Given the description of an element on the screen output the (x, y) to click on. 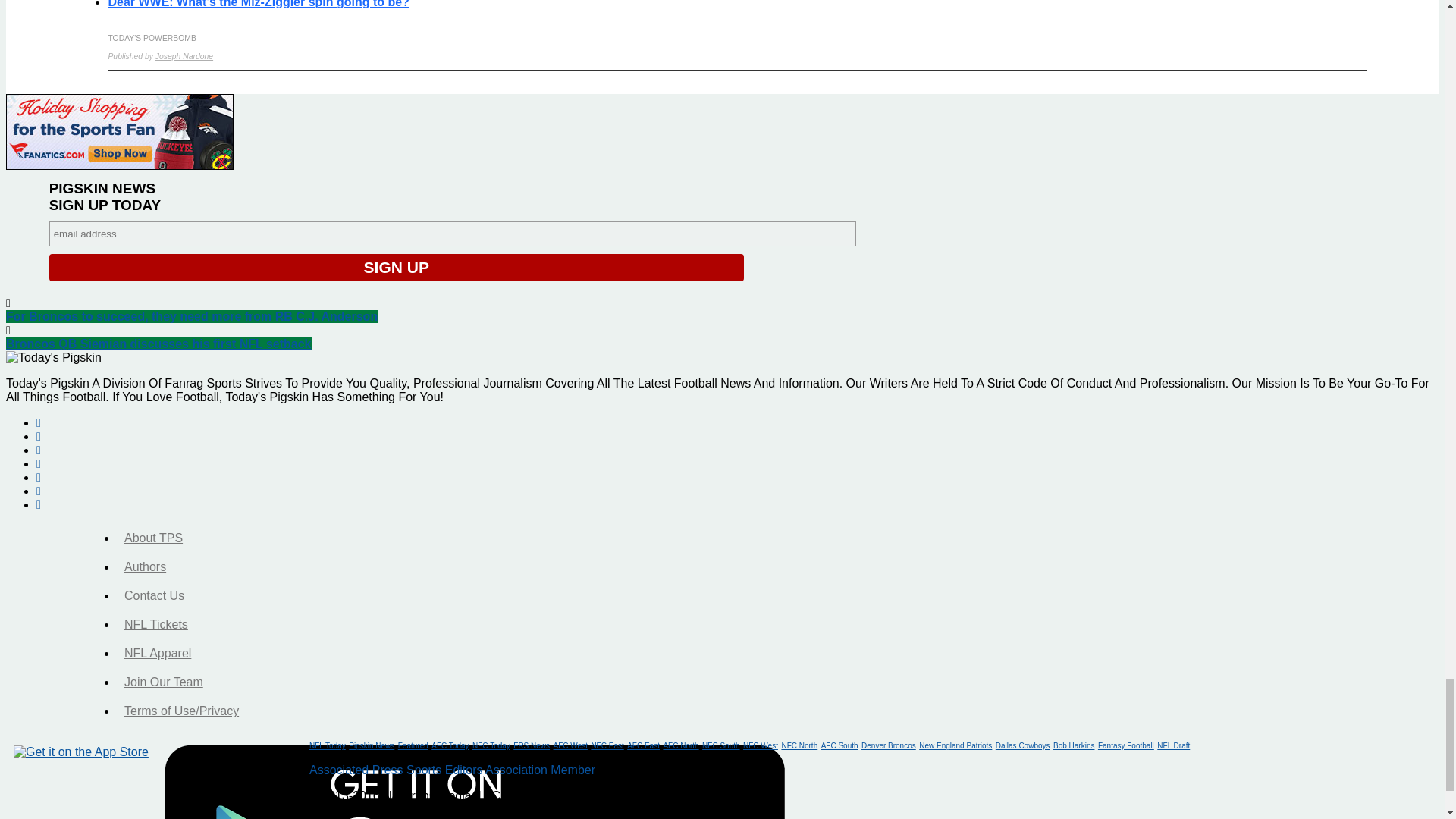
Sign Up (396, 267)
